Given the description of an element on the screen output the (x, y) to click on. 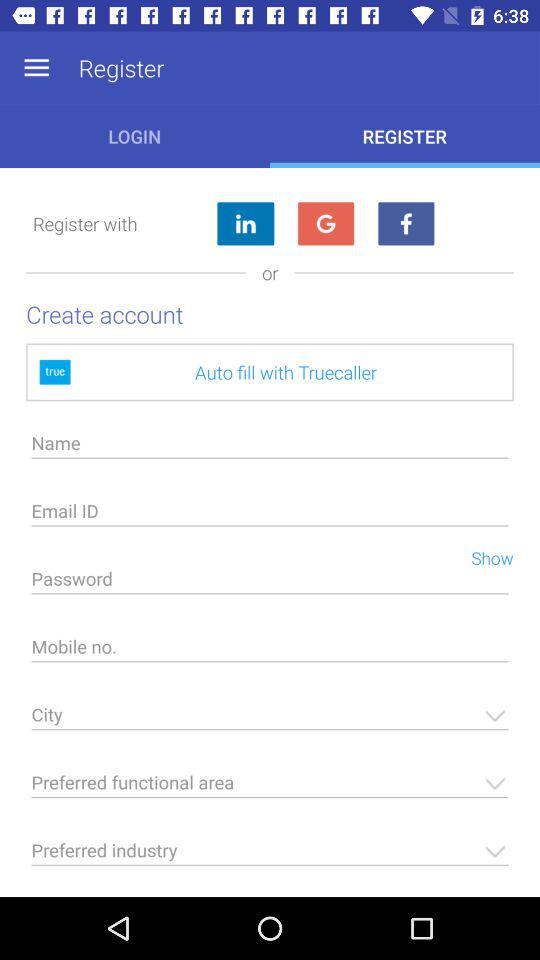
register with facebook (405, 224)
